Given the description of an element on the screen output the (x, y) to click on. 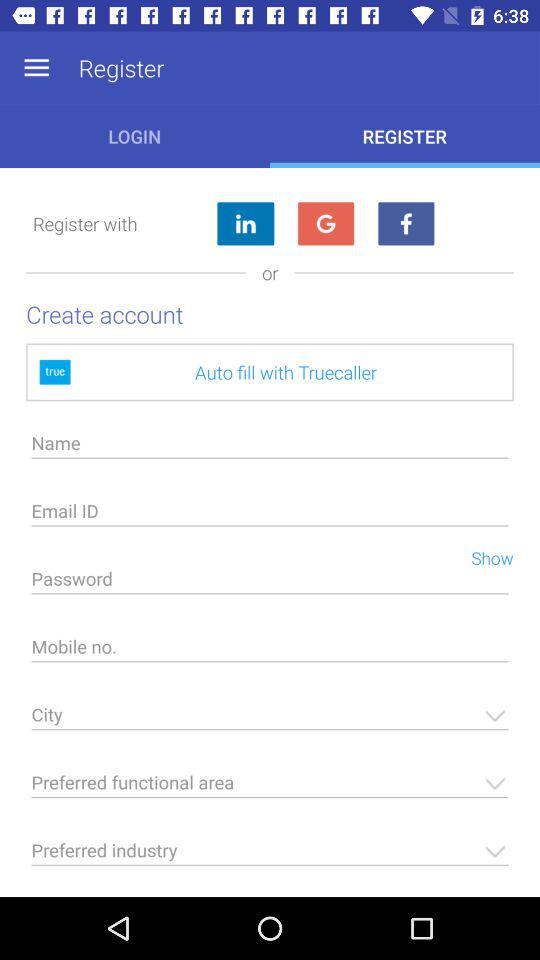
register with facebook (405, 224)
